Given the description of an element on the screen output the (x, y) to click on. 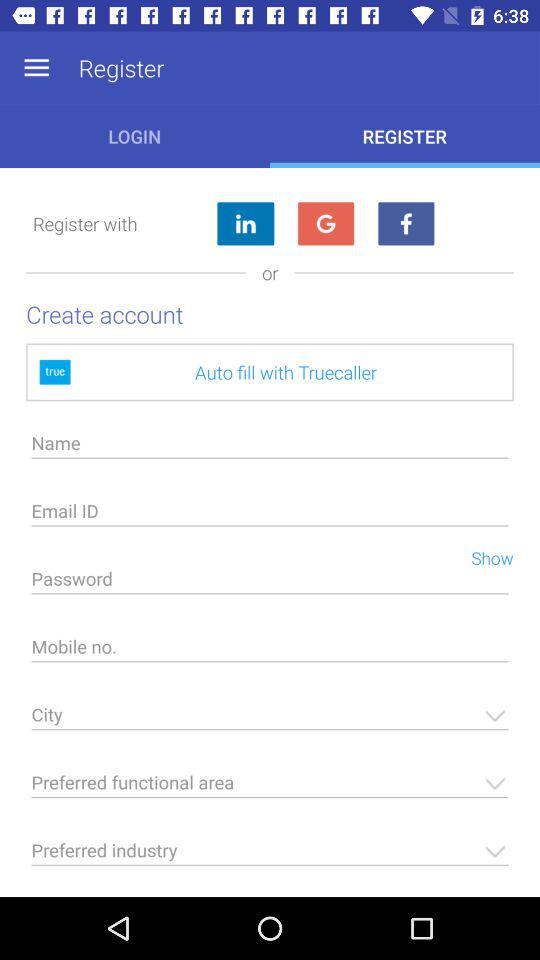
register with facebook (405, 224)
